Given the description of an element on the screen output the (x, y) to click on. 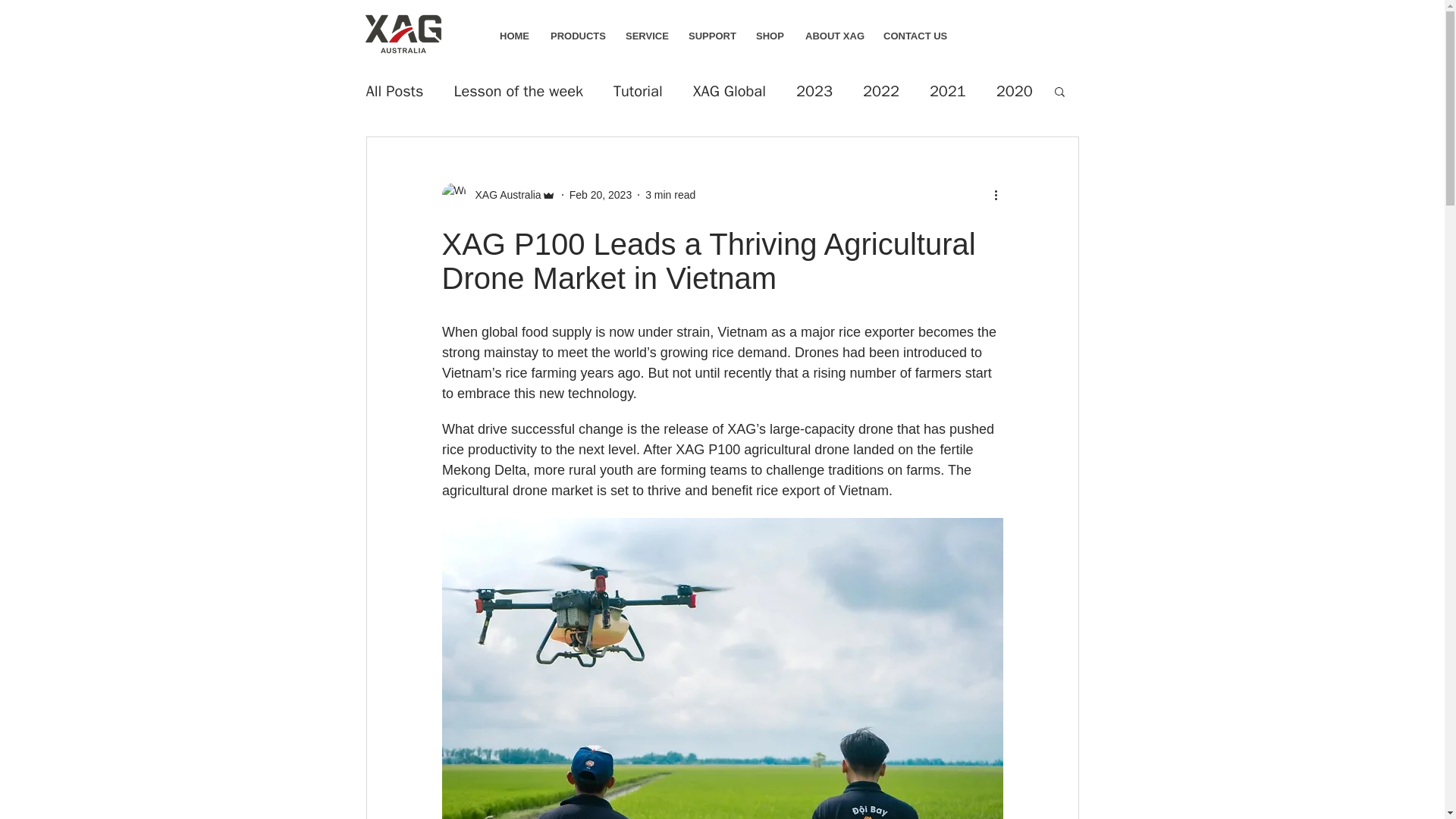
Tutorial (637, 90)
XAG Global (729, 90)
SUPPORT (710, 35)
XAG Australia (502, 194)
2021 (948, 90)
Feb 20, 2023 (600, 193)
SERVICE (644, 35)
Lesson of the week (517, 90)
2022 (881, 90)
CONTACT US (911, 35)
